Given the description of an element on the screen output the (x, y) to click on. 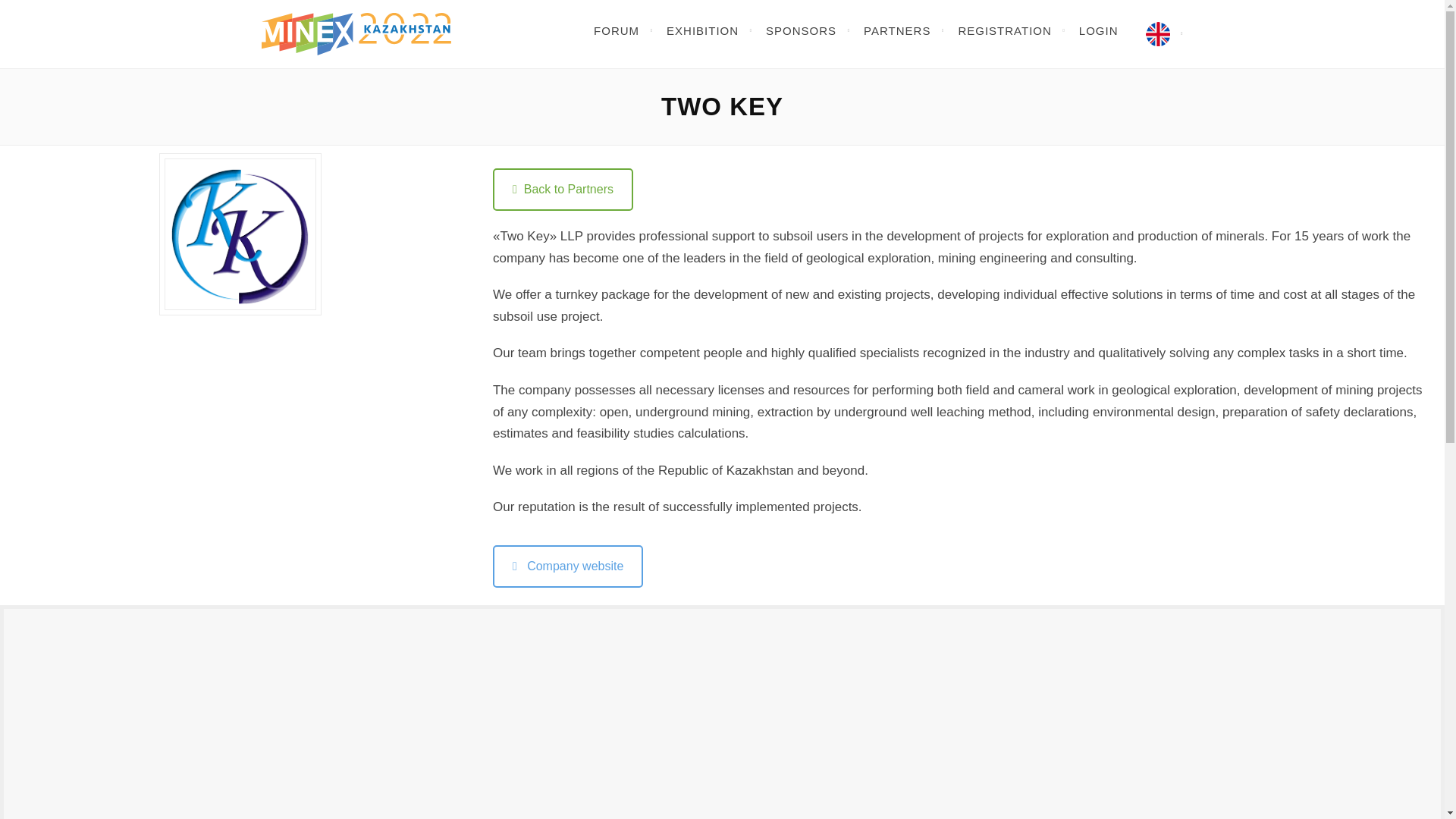
LOGIN (1098, 31)
SPONSORS (801, 31)
FORUM (615, 31)
PARTNERS (896, 31)
REGISTRATION (1003, 31)
EXHIBITION (702, 31)
